Given the description of an element on the screen output the (x, y) to click on. 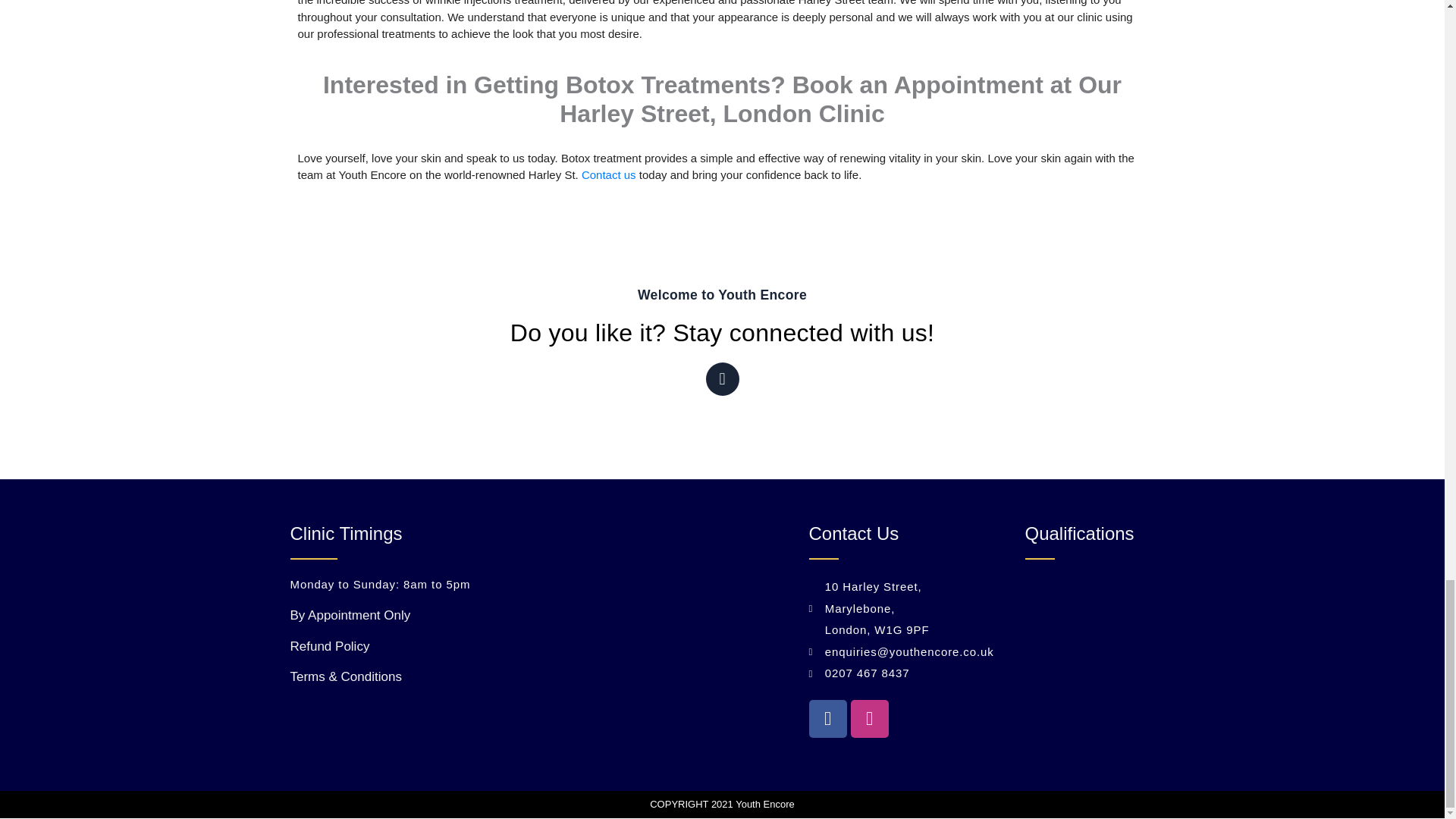
Refund Policy (329, 646)
Instagram (869, 718)
Instagram (721, 378)
Youth Encore  10 Harley Street London W1G 9PF (613, 612)
Contact us (608, 174)
Facebook (826, 718)
0207 467 8437 (872, 673)
